Given the description of an element on the screen output the (x, y) to click on. 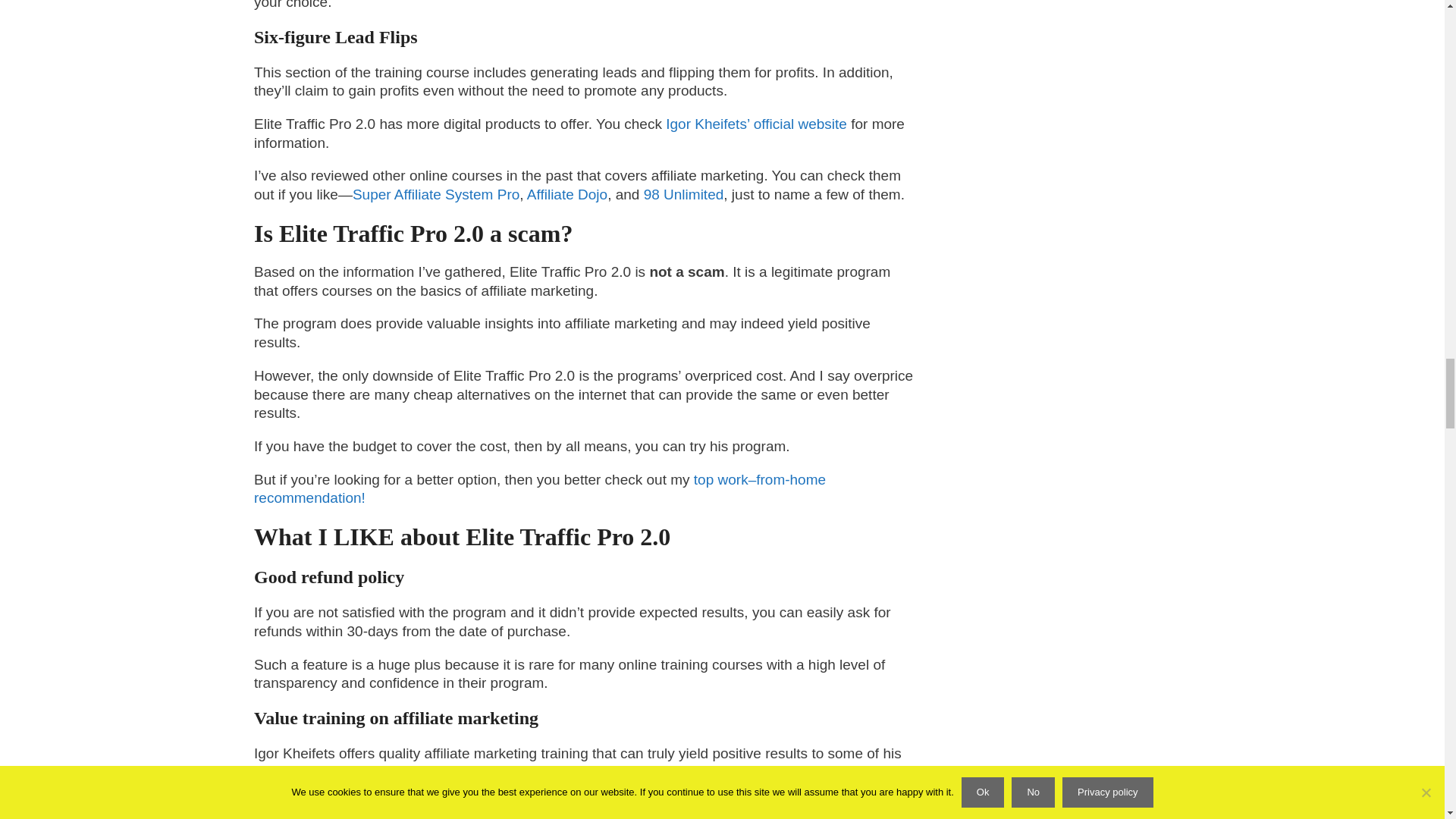
Super Affiliate System Pro (435, 194)
Affiliate Dojo (567, 194)
top work (721, 479)
98 Unlimited (683, 194)
from-home recommendation! (539, 488)
